Given the description of an element on the screen output the (x, y) to click on. 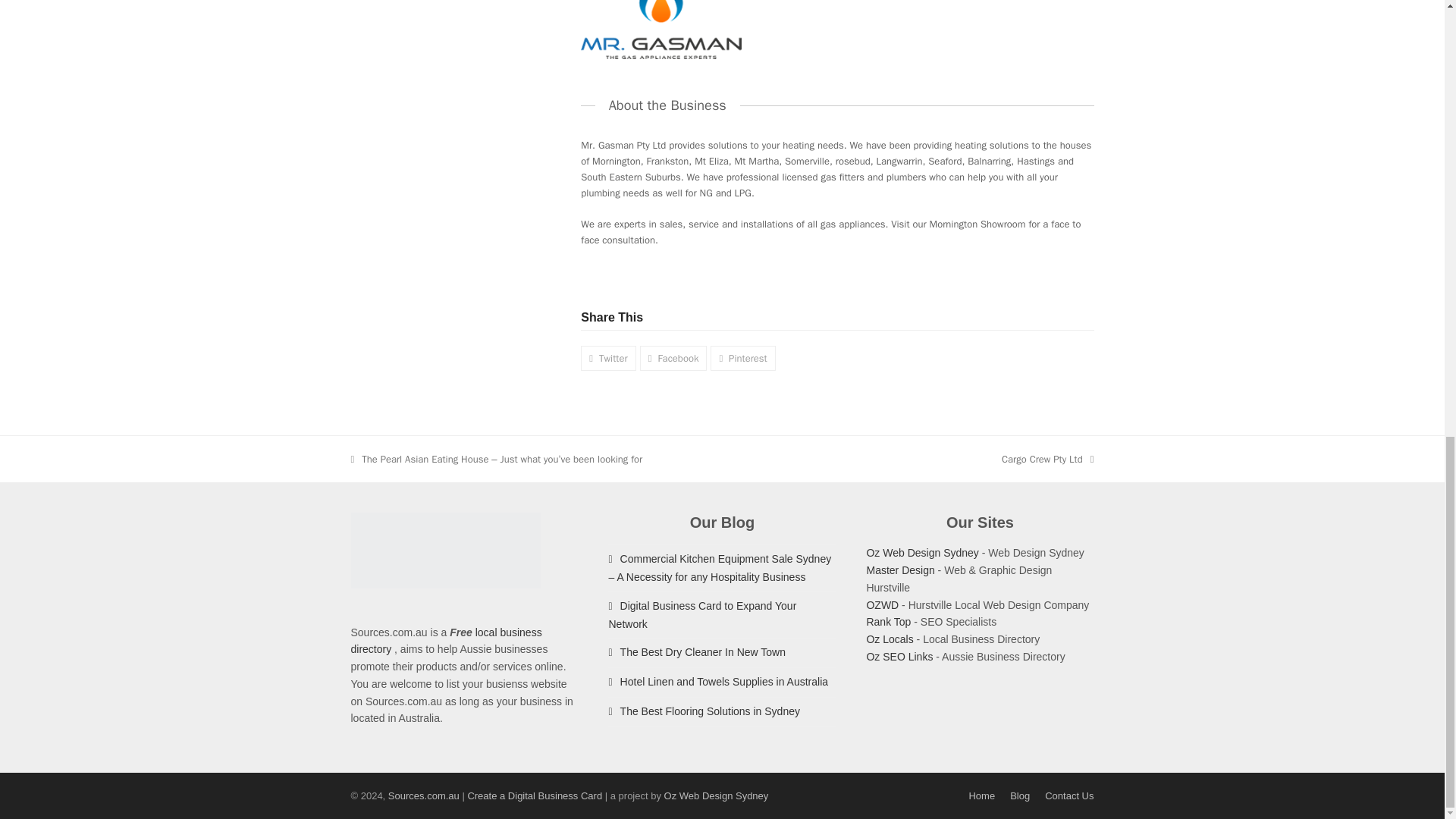
Twitter (607, 357)
web design sydney (715, 795)
australian business directory (899, 656)
web design hurstville (900, 570)
OZWD (882, 604)
Digital Business Card to Expand Your Network (702, 614)
The Best Dry Cleaner In New Town (697, 652)
Master Design (900, 570)
australian business directory (889, 639)
web design sydney (922, 552)
Pinterest (742, 357)
local business directory (445, 641)
Rank Top (888, 621)
seo hurstville (888, 621)
Hotel Linen and Towels Supplies in Australia (718, 681)
